Given the description of an element on the screen output the (x, y) to click on. 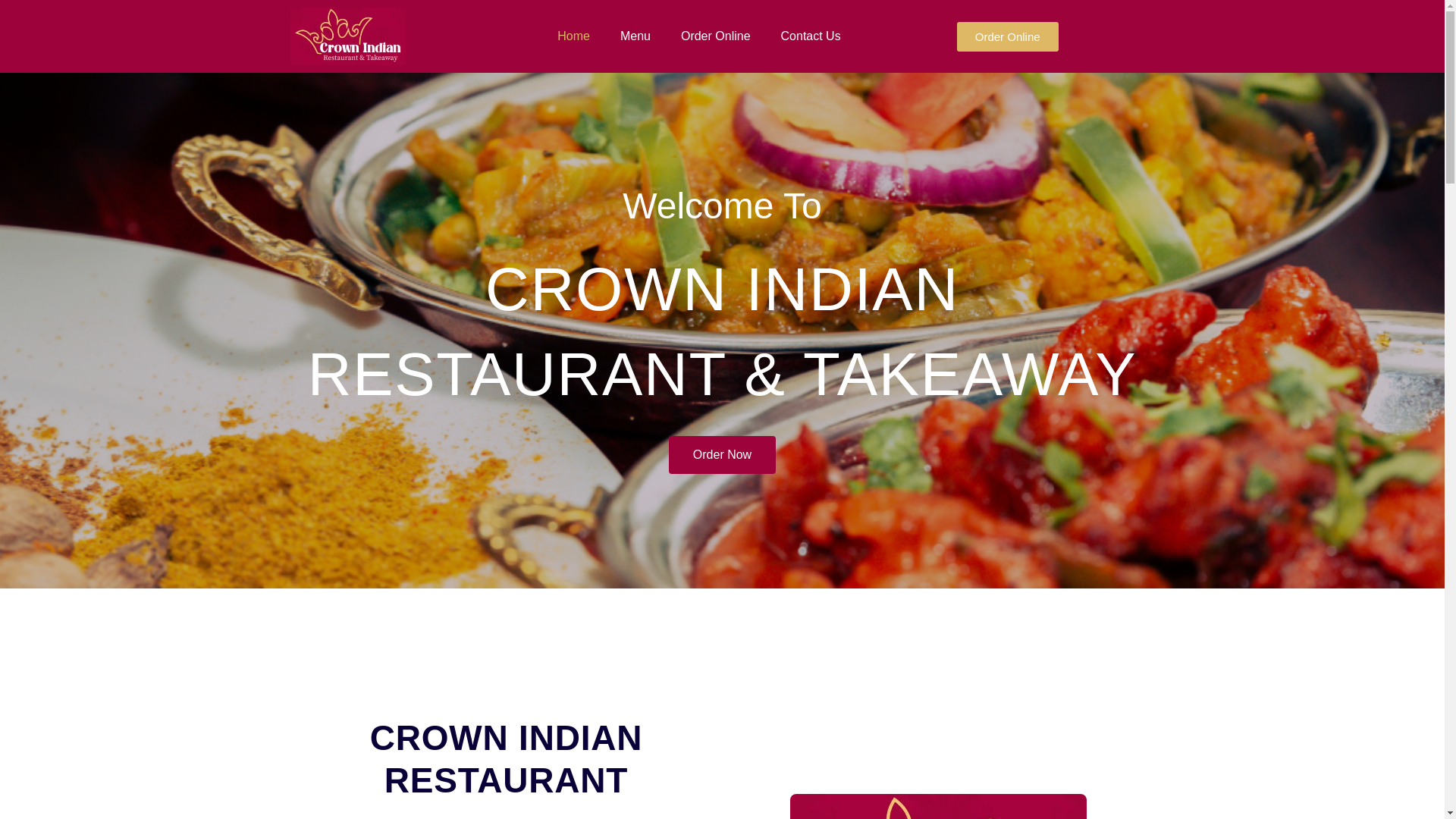
Home (573, 36)
Order Online (1007, 36)
Order Online (715, 36)
Contact Us (810, 36)
Menu (635, 36)
